Given the description of an element on the screen output the (x, y) to click on. 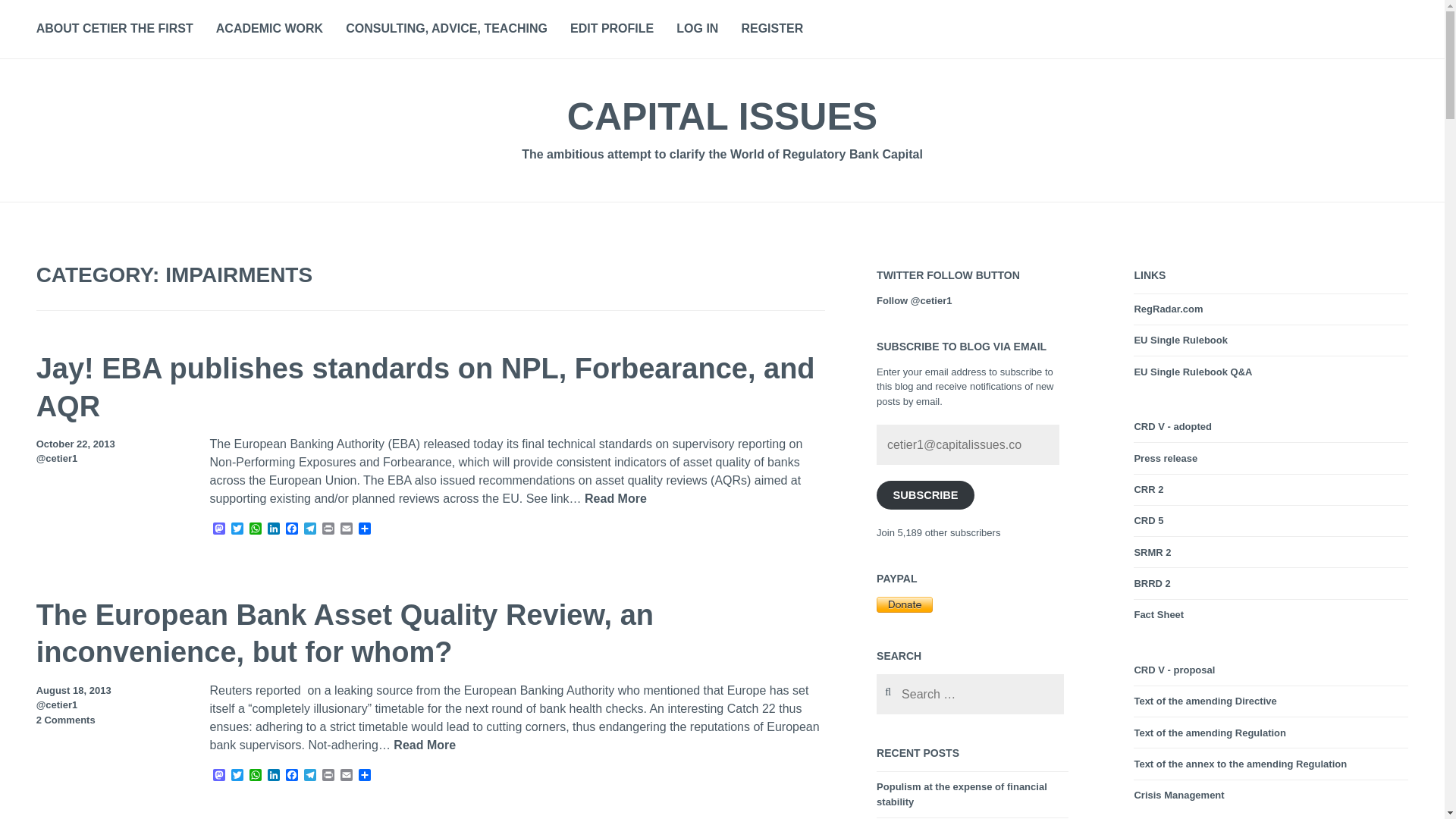
Facebook (291, 775)
Twitter (237, 529)
Mastodon (218, 529)
Facebook (291, 775)
Mastodon (218, 529)
Email (346, 529)
Jay! EBA publishes standards on NPL, Forbearance, and AQR (425, 388)
WhatsApp (255, 529)
Facebook (291, 529)
Email (346, 775)
Print (327, 529)
CAPITAL ISSUES (722, 116)
WhatsApp (255, 775)
LinkedIn (273, 775)
